Given the description of an element on the screen output the (x, y) to click on. 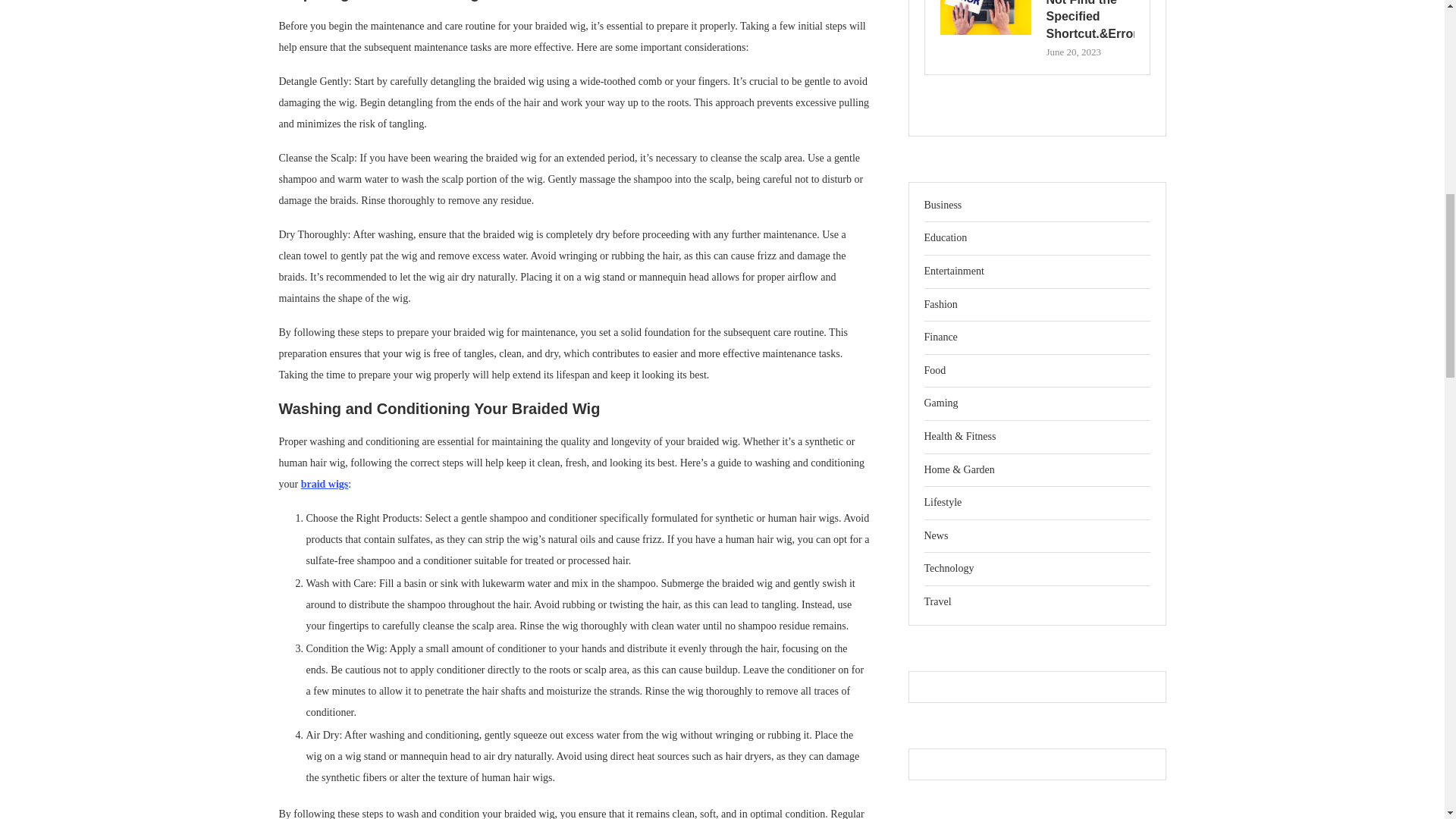
braid wigs (325, 483)
